Given the description of an element on the screen output the (x, y) to click on. 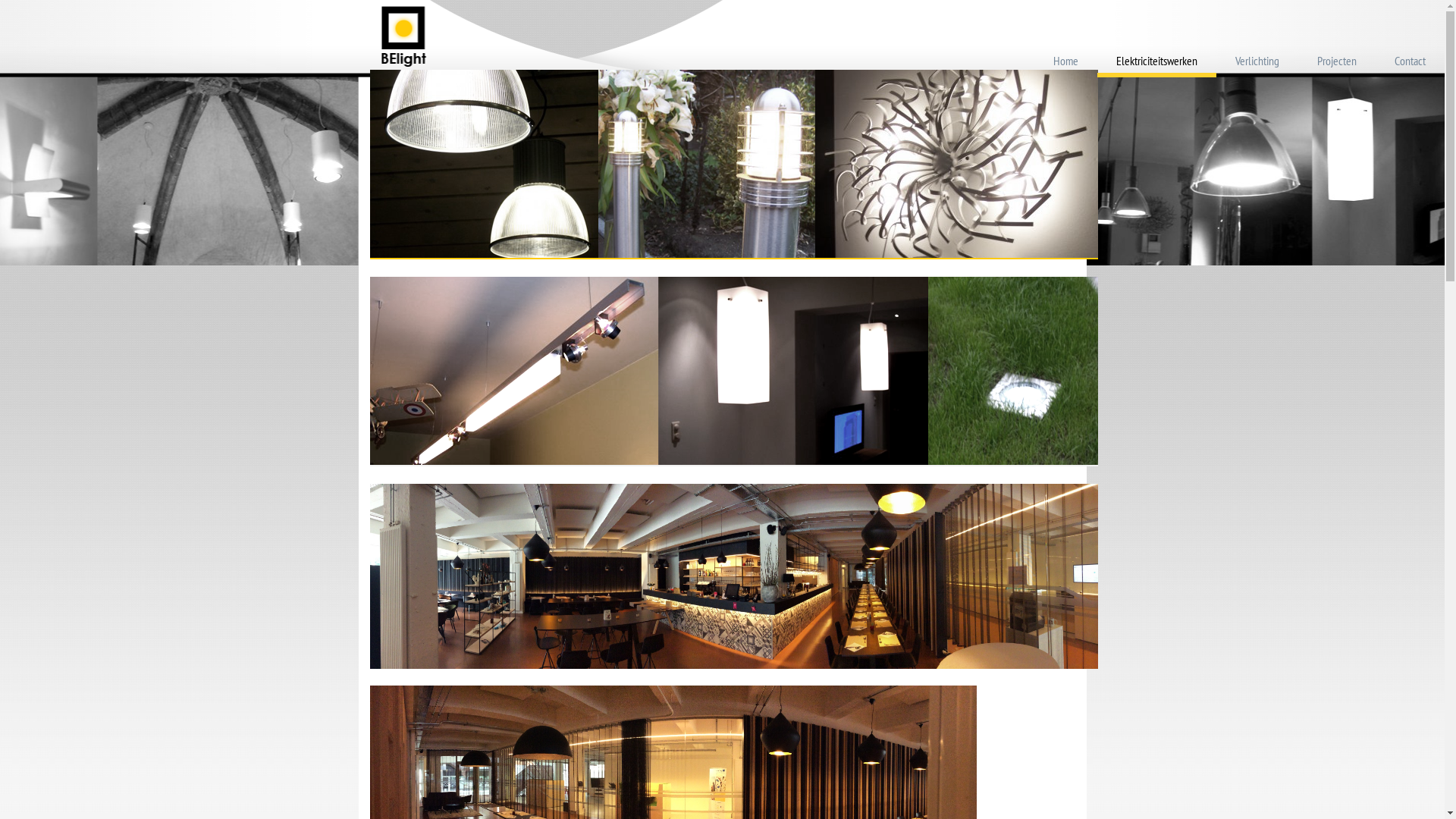
Projecten Element type: text (1336, 62)
  Element type: hover (734, 371)
  Element type: hover (734, 575)
Elektriciteitswerken Element type: text (1156, 62)
Home Element type: text (1065, 62)
  Element type: hover (734, 164)
Contact Element type: text (1409, 62)
Verlichting Element type: text (1257, 62)
